Given the description of an element on the screen output the (x, y) to click on. 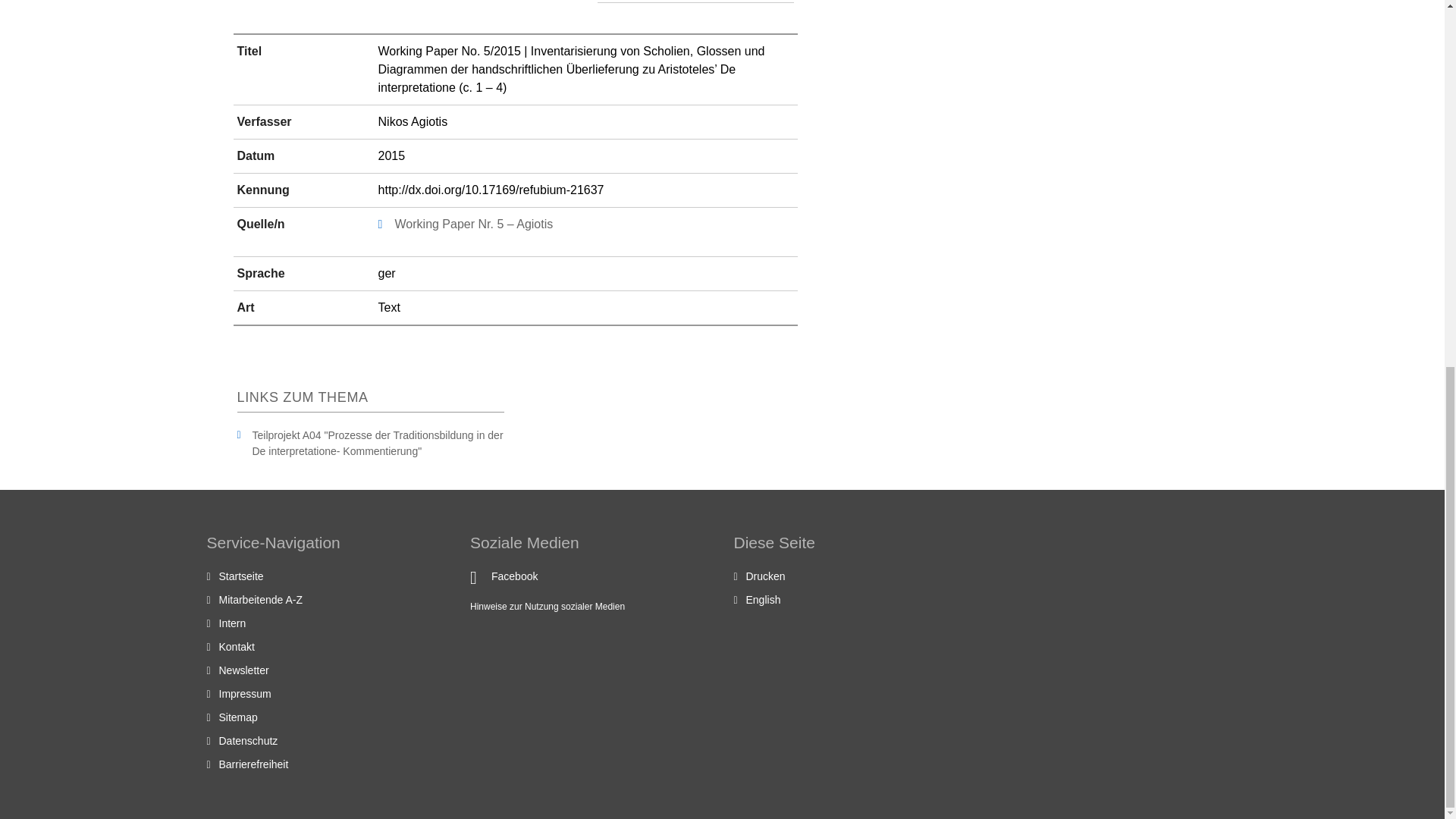
Kontakt (235, 646)
Mitarbeitende A-Z (260, 599)
Intern (232, 623)
Startseite (240, 576)
Impressum (244, 693)
Newsletter (242, 670)
